Given the description of an element on the screen output the (x, y) to click on. 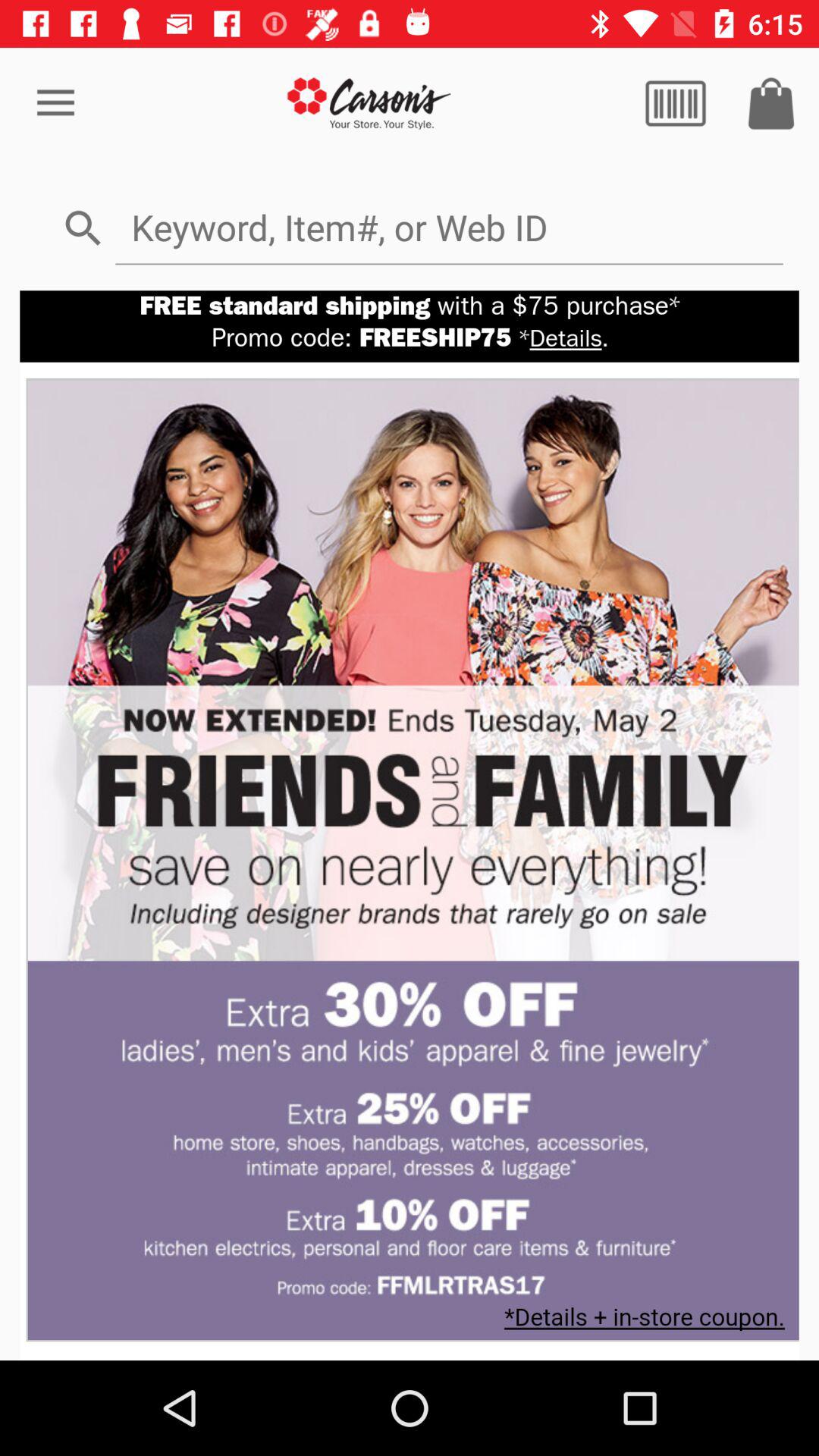
viwe (675, 103)
